Given the description of an element on the screen output the (x, y) to click on. 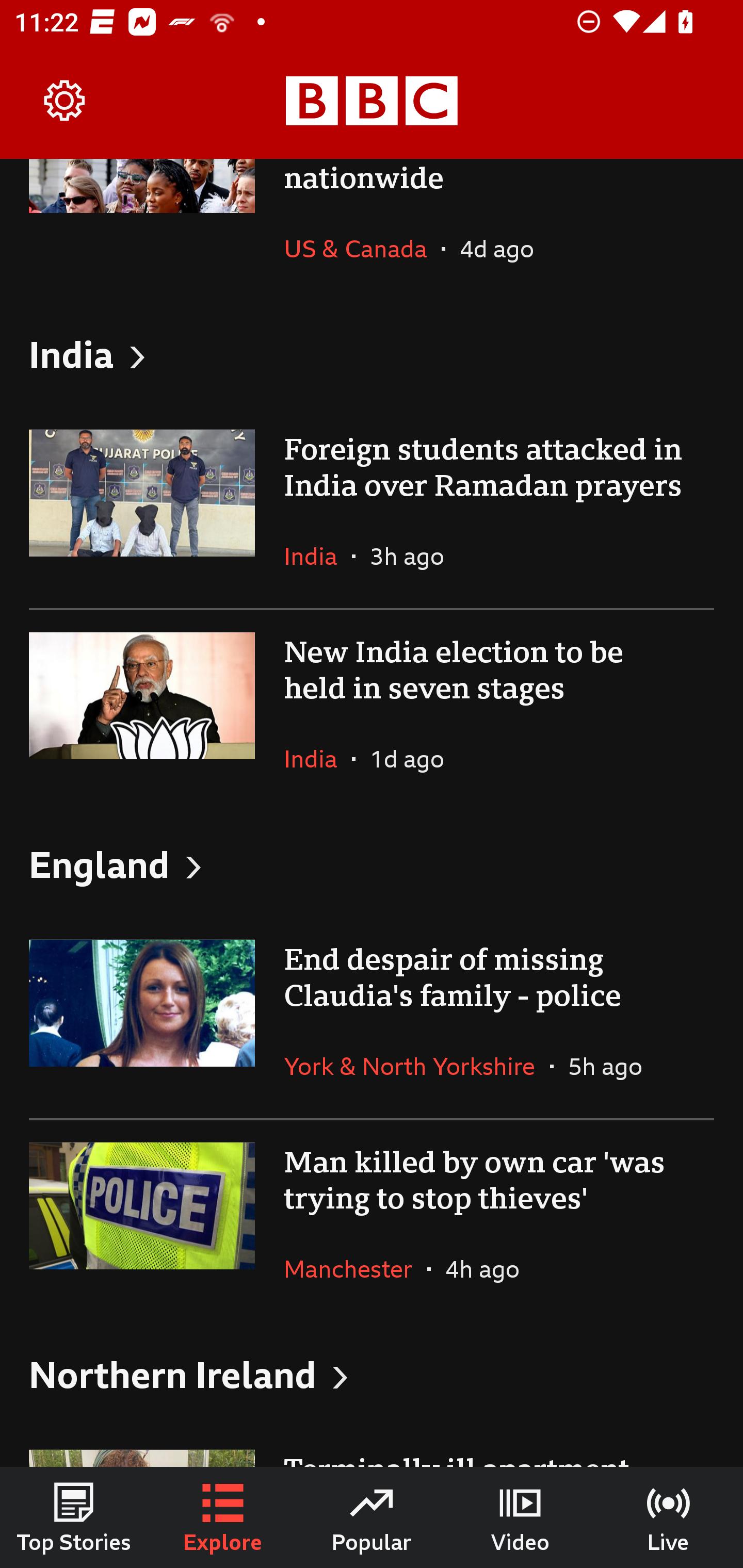
Settings (64, 100)
US & Canada In the section US & Canada (362, 248)
India, Heading India    (371, 354)
India In the section India (317, 555)
India In the section India (317, 758)
England, Heading England    (371, 863)
Manchester In the section Manchester (355, 1268)
Northern Ireland, Heading Northern Ireland    (371, 1374)
Top Stories (74, 1517)
Popular (371, 1517)
Video (519, 1517)
Live (668, 1517)
